Given the description of an element on the screen output the (x, y) to click on. 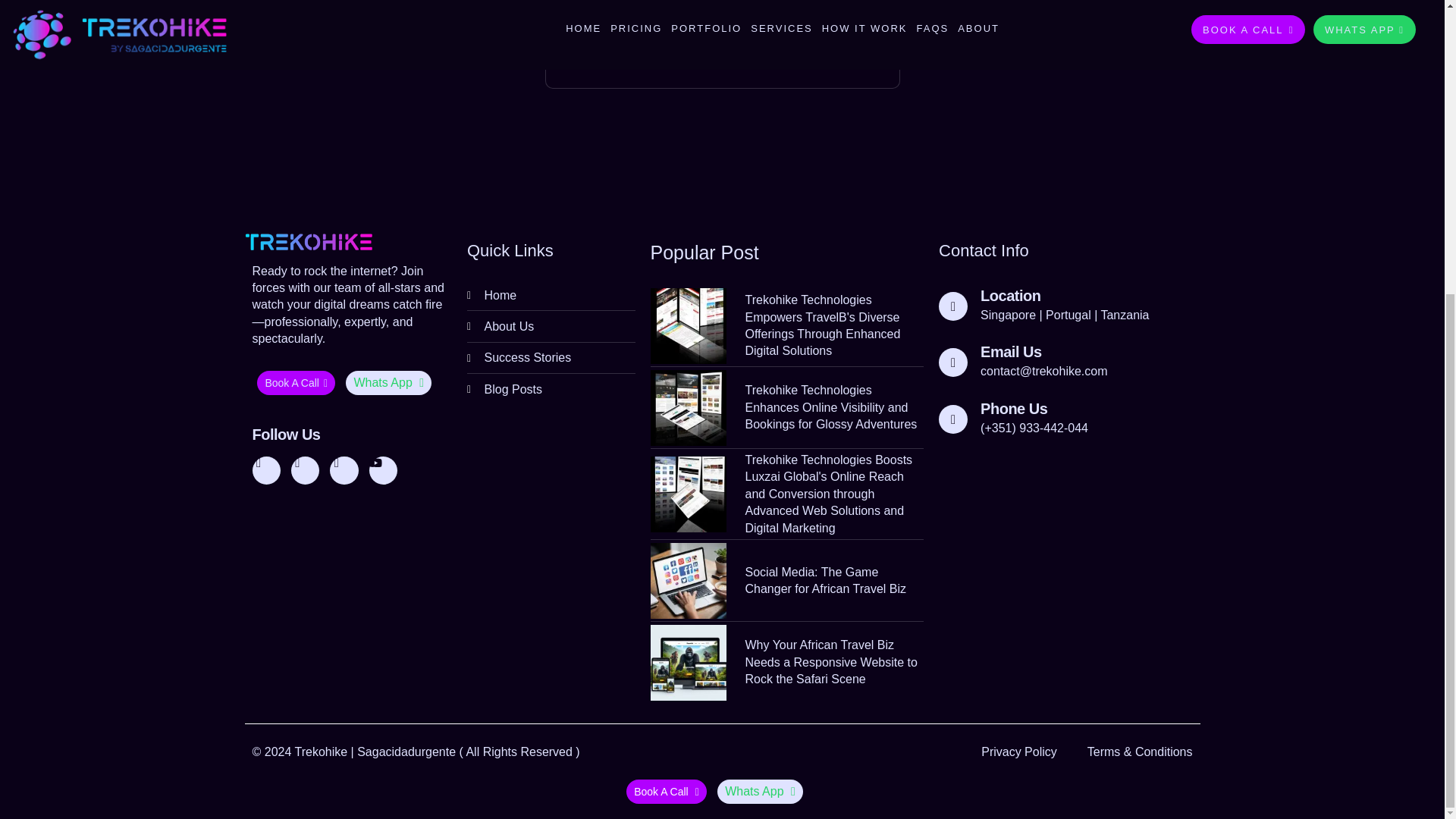
Privacy Policy (1019, 751)
Whats App (760, 791)
Social Media: The Game Changer for African Travel Biz (787, 580)
Book A Call (295, 381)
BACK HOME (721, 26)
Whats App (388, 381)
Home (550, 294)
About Us (550, 325)
Book A Call (666, 791)
Blog Posts (550, 389)
Success Stories (550, 357)
